Given the description of an element on the screen output the (x, y) to click on. 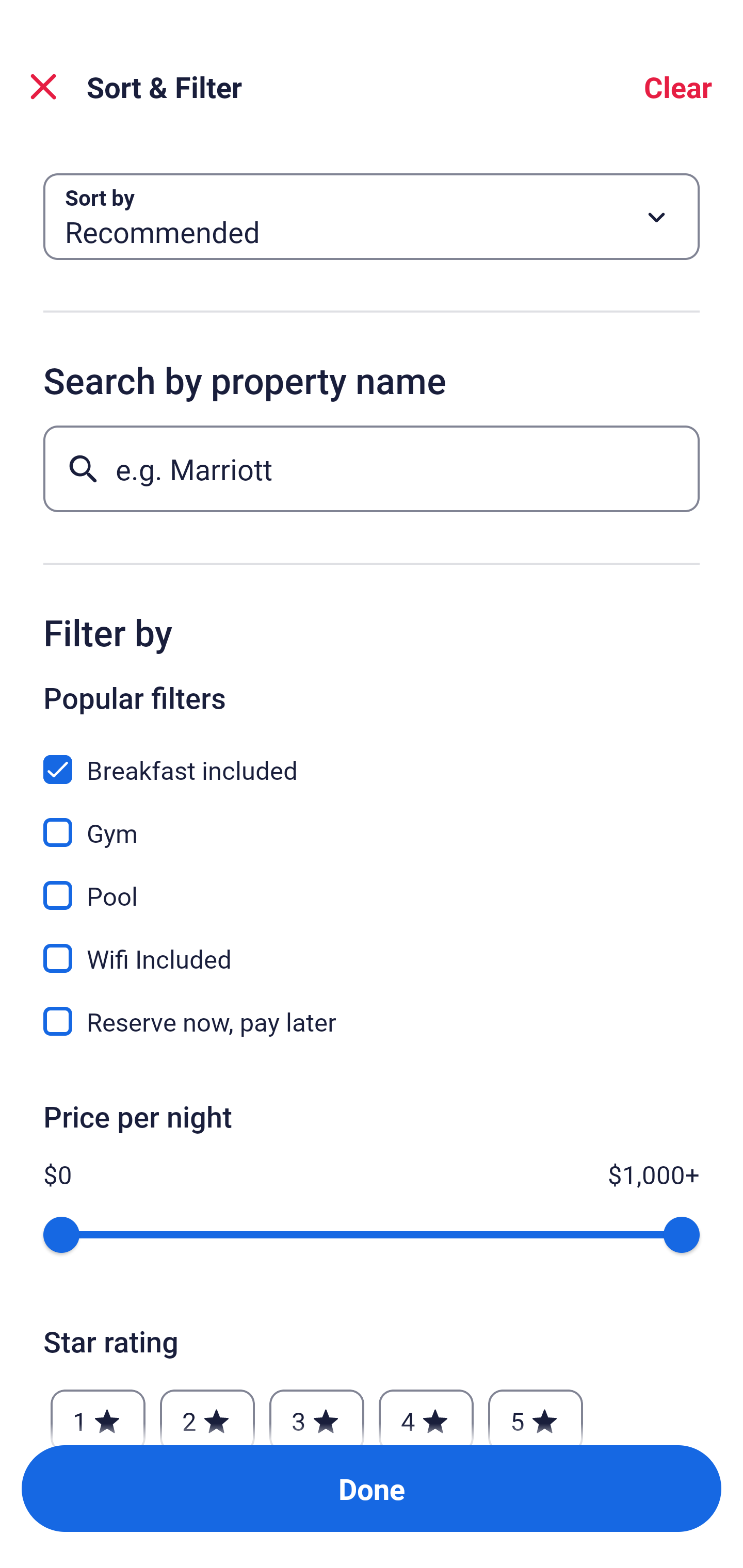
Close Sort and Filter (43, 86)
Clear (677, 86)
Sort by Button Recommended (371, 217)
e.g. Marriott Button (371, 468)
Breakfast included, Breakfast included (371, 757)
Gym, Gym (371, 821)
Pool, Pool (371, 883)
Wifi Included, Wifi Included (371, 946)
Reserve now, pay later, Reserve now, pay later (371, 1021)
1 (97, 1411)
2 (206, 1411)
3 (316, 1411)
4 (426, 1411)
5 (535, 1411)
Apply and close Sort and Filter Done (371, 1488)
